Given the description of an element on the screen output the (x, y) to click on. 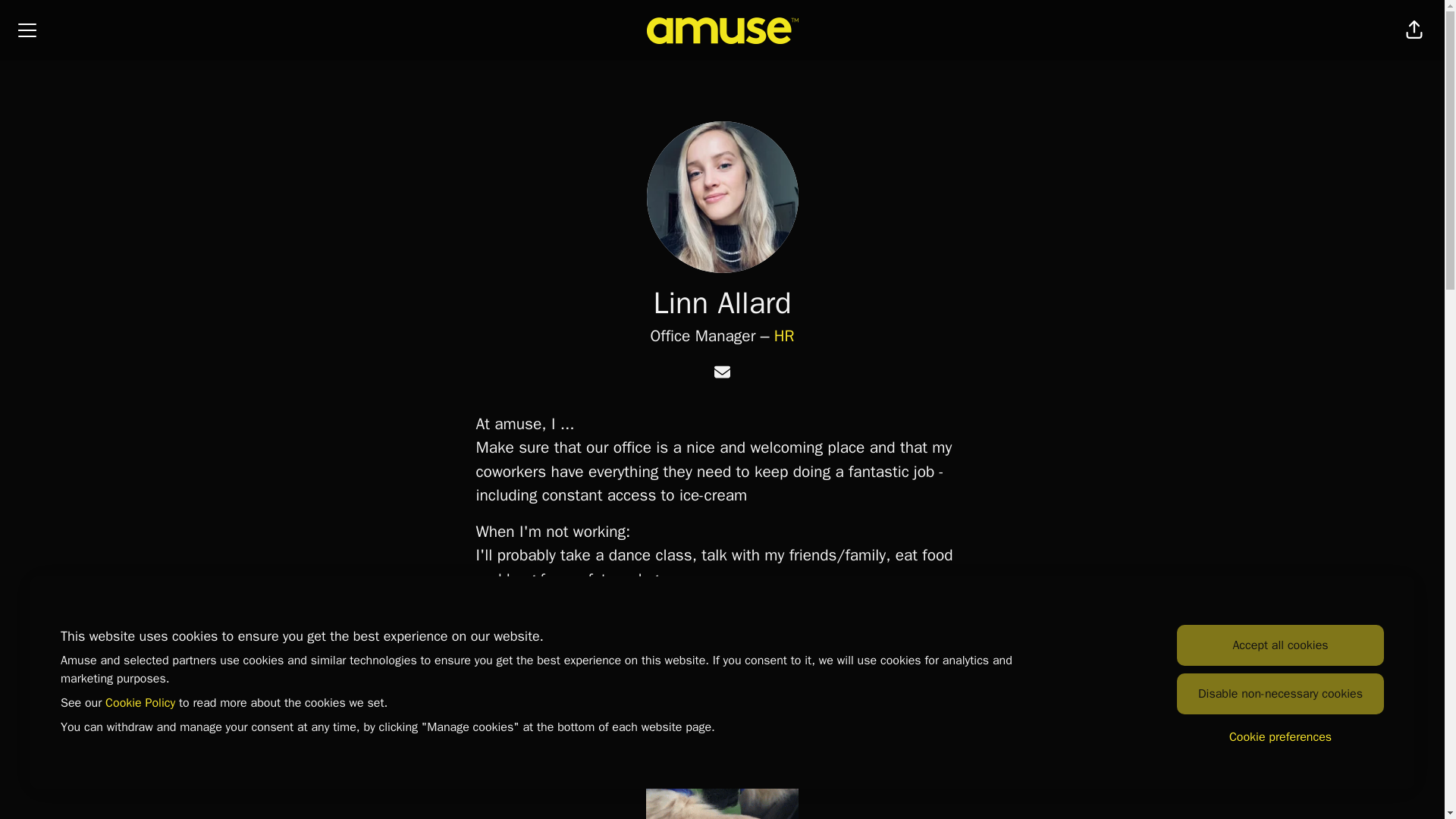
Email (721, 373)
HR (784, 335)
Share page (1414, 30)
Cookie Policy (139, 702)
Cookie preferences (1280, 736)
Accept all cookies (1280, 644)
Career menu (26, 30)
Disable non-necessary cookies (1280, 693)
